Given the description of an element on the screen output the (x, y) to click on. 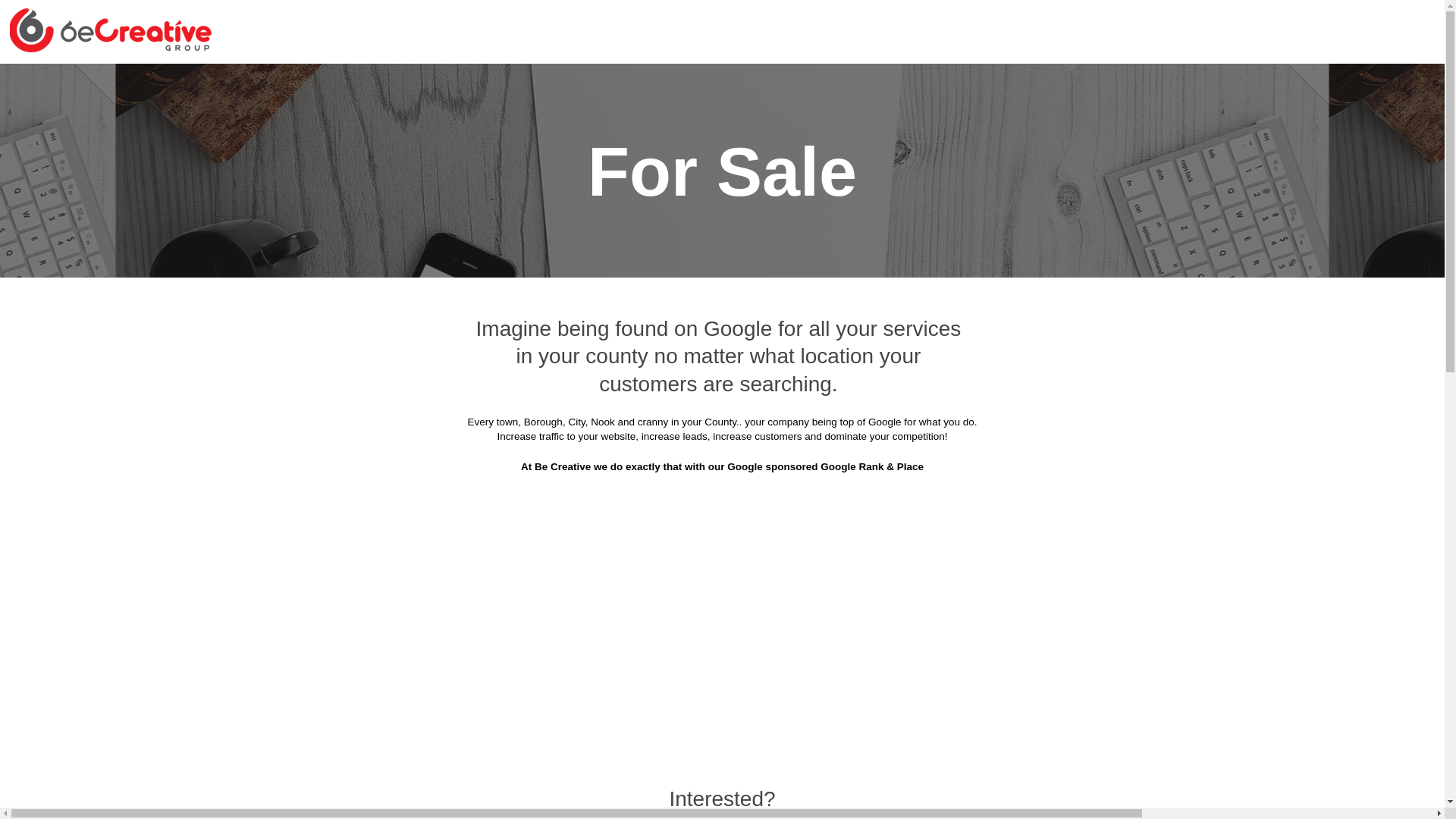
Aggregate Suppliers Cornwall (488, 83)
Aggregate Suppliers Exeter Devon (870, 271)
Aggregate Suppliers Holsworthy Devon (1076, 346)
Aggregate Suppliers Ilfracombe Devon (625, 383)
Aggregate Suppliers Callington Cornwall (834, 196)
Aggregate Suppliers Bodmin Cornwall (837, 121)
Aggregate Suppliers Buckfastleigh Devon (860, 158)
Aggregate Suppliers Barnstaple Devon (395, 121)
Aggregate Suppliers Devon (660, 83)
Aggregate Suppliers Axminster Devon (1080, 83)
Aggregate Suppliers Bovey Tracey Devon (1070, 121)
Aggregate Suppliers Ashburton Devon (855, 83)
Aggregate Suppliers Ivybridge Devon (848, 383)
Aggregate Suppliers Fowey Cornwall (824, 309)
Groundworks and Plant Hire (358, 45)
